Given the description of an element on the screen output the (x, y) to click on. 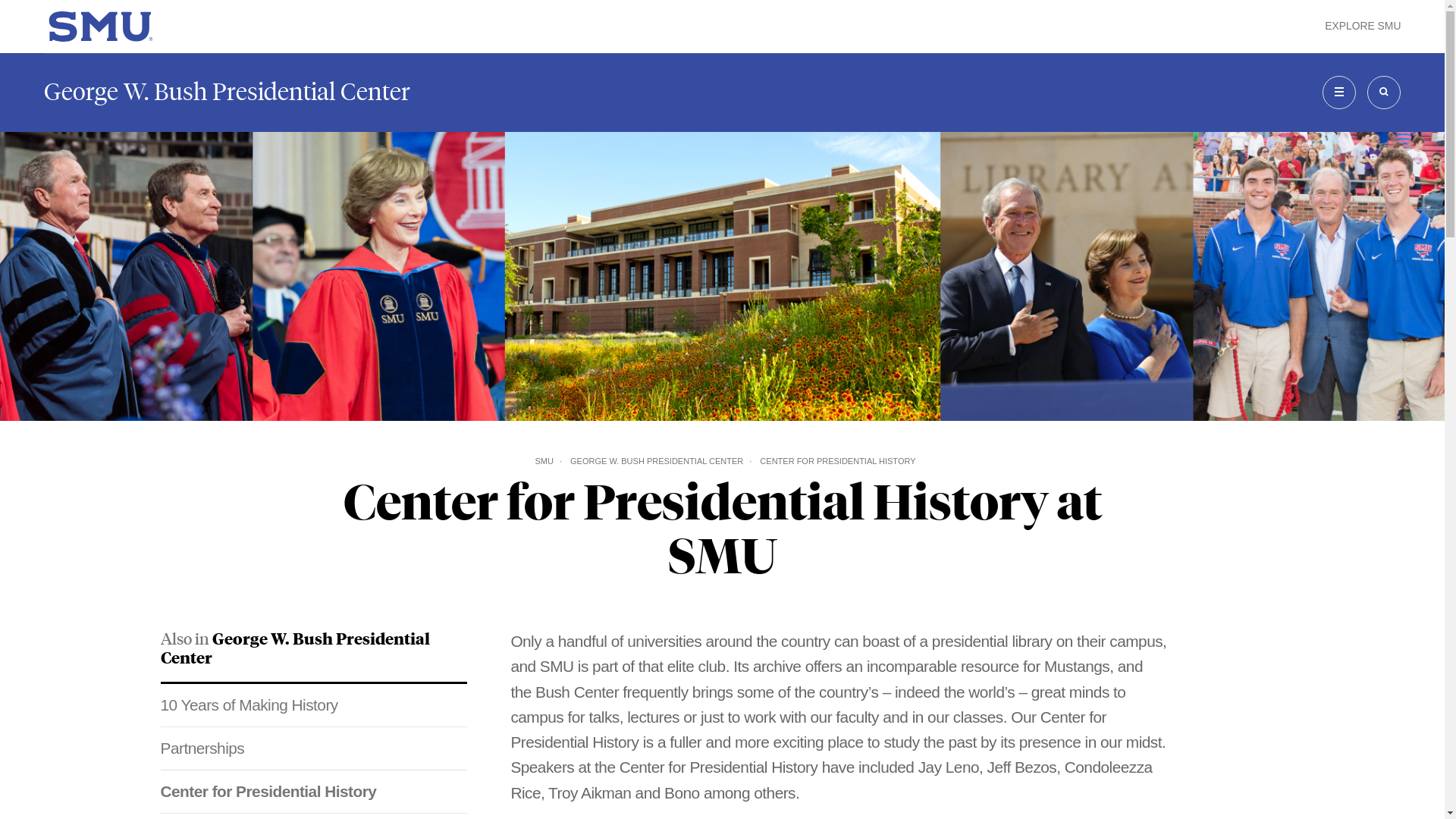
GEORGE W. BUSH PRESIDENTIAL CENTER (656, 461)
EXPLORE SMU (1362, 26)
SEARCH (1383, 92)
George W. Bush Presidential Center (226, 91)
George W. Bush Presidential Center (294, 647)
Partnerships (313, 748)
SMU (543, 461)
CENTER FOR PRESIDENTIAL HISTORY (837, 461)
Center for Presidential History (313, 791)
MENU (1338, 92)
10 Years of Making History (313, 704)
